Given the description of an element on the screen output the (x, y) to click on. 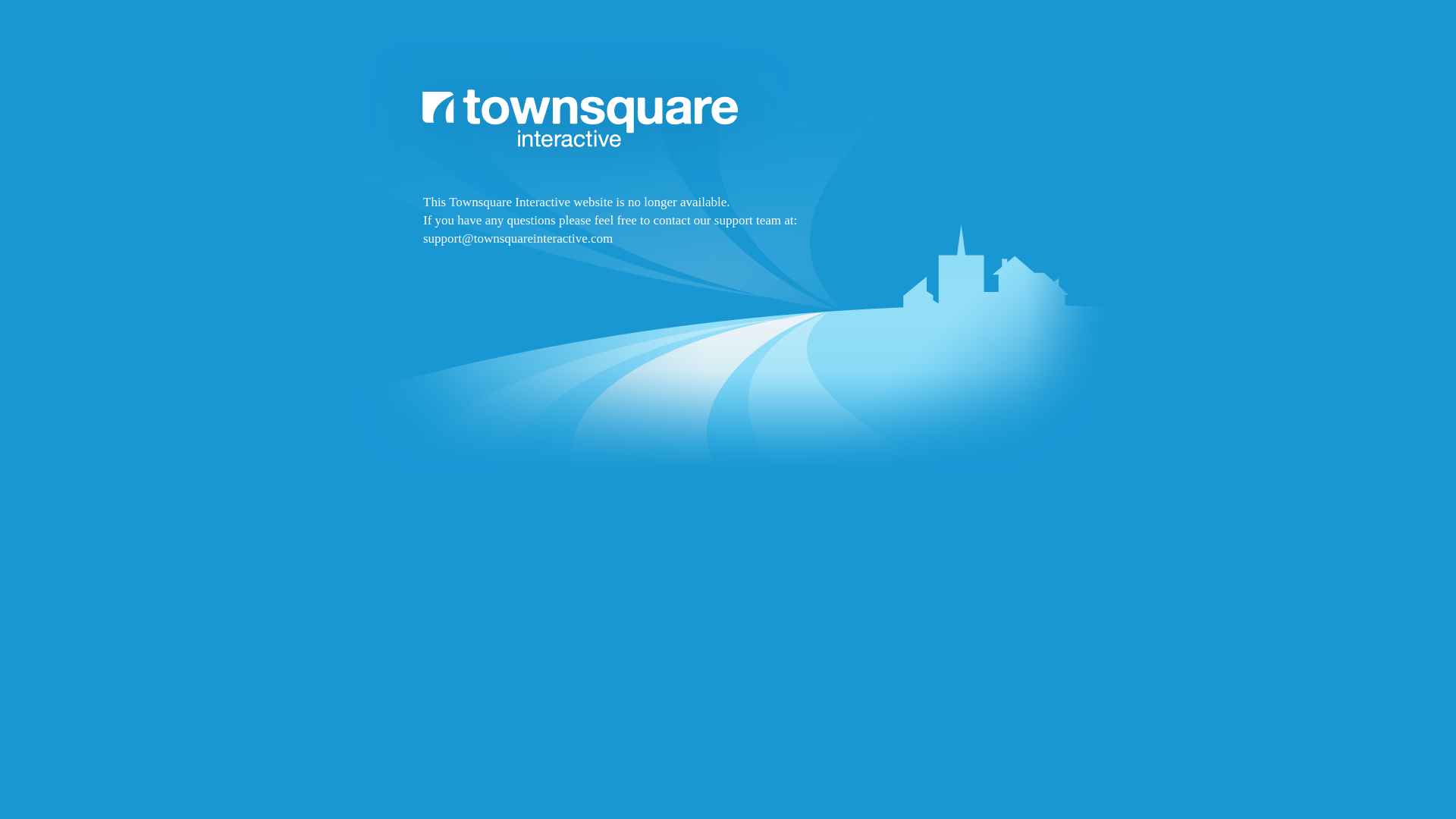
Townsquare Interactive Element type: hover (727, 297)
